Given the description of an element on the screen output the (x, y) to click on. 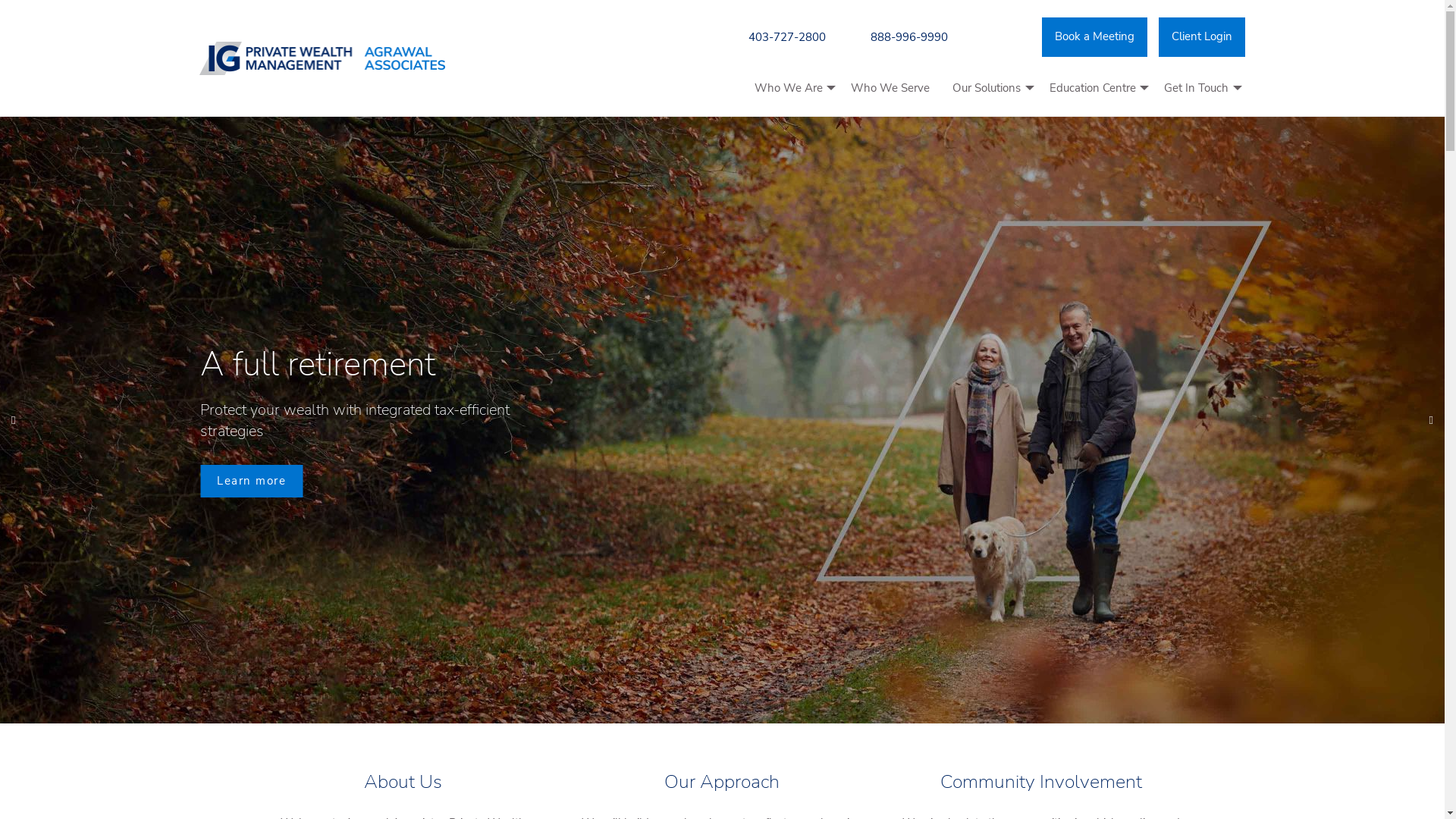
Book a Meeting Element type: text (1094, 36)
Who We Serve Element type: text (890, 87)
Who We Are Element type: text (791, 87)
Skip to main content Element type: text (0, 0)
Learn more Element type: text (251, 480)
403-727-2800 Element type: text (786, 36)
888-996-9990 Element type: text (908, 36)
Our Solutions Element type: text (989, 87)
Education Centre Element type: text (1094, 87)
Get In Touch Element type: text (1198, 87)
Client Login Element type: text (1201, 36)
